Given the description of an element on the screen output the (x, y) to click on. 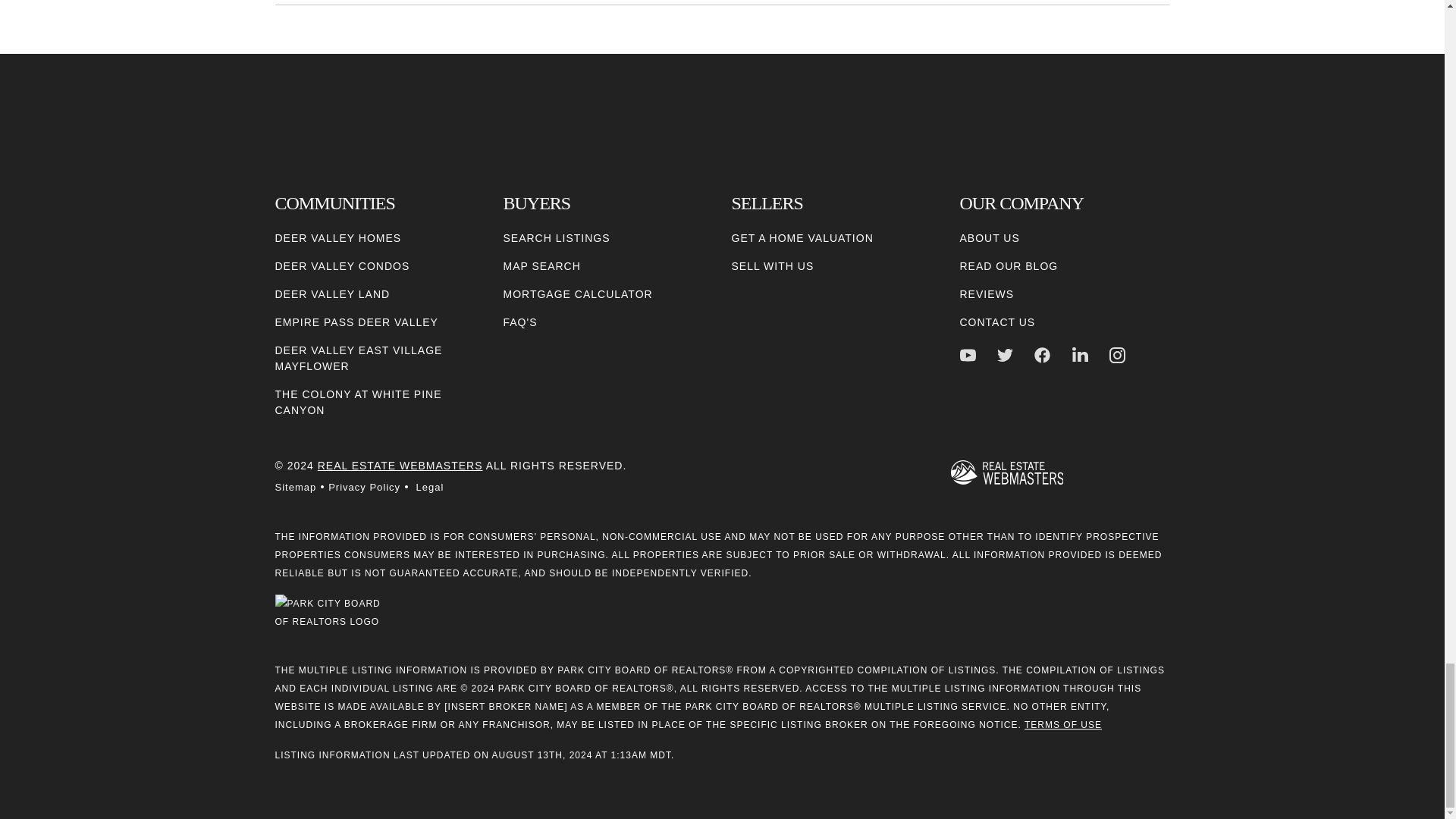
LINKEDIN (1079, 355)
FACEBOOK (1041, 355)
YOUTUBE (967, 355)
TWITTER (1005, 355)
